Given the description of an element on the screen output the (x, y) to click on. 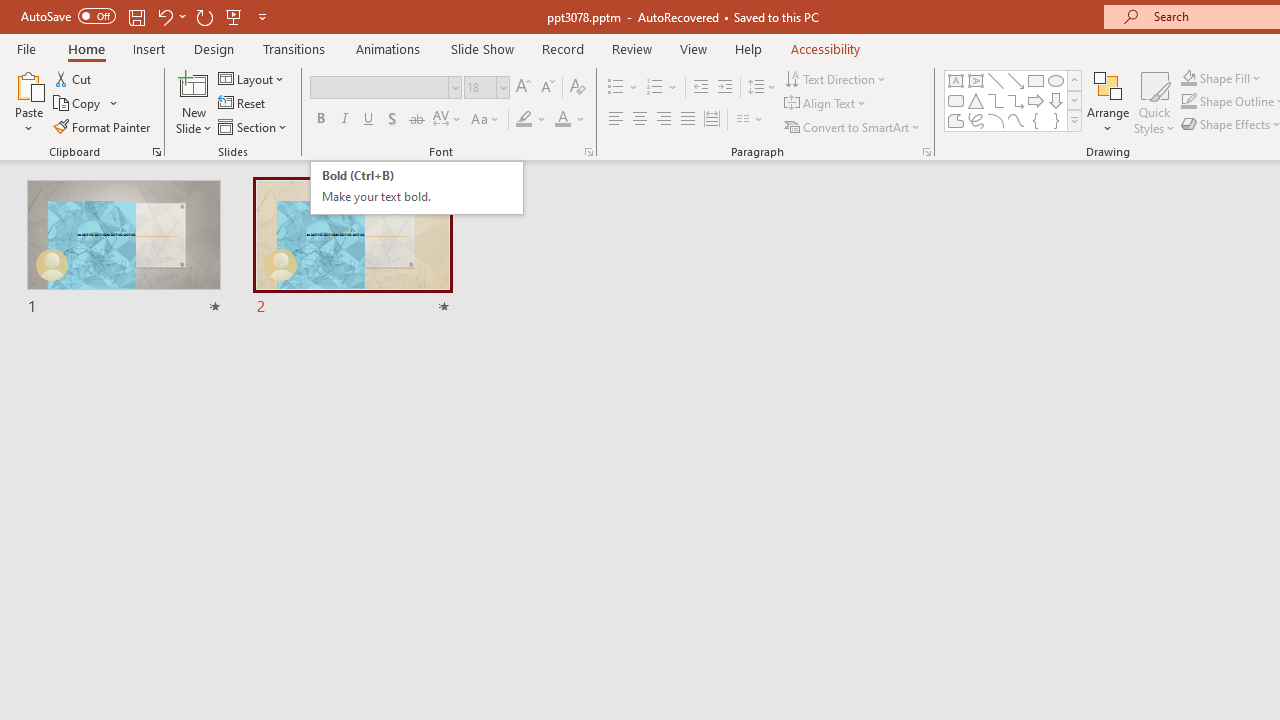
Connector: Elbow Arrow (1016, 100)
Freeform: Scribble (975, 120)
Line Arrow (1016, 80)
Align Right (663, 119)
Convert to SmartArt (853, 126)
Shape Fill Dark Green, Accent 2 (1188, 78)
